Given the description of an element on the screen output the (x, y) to click on. 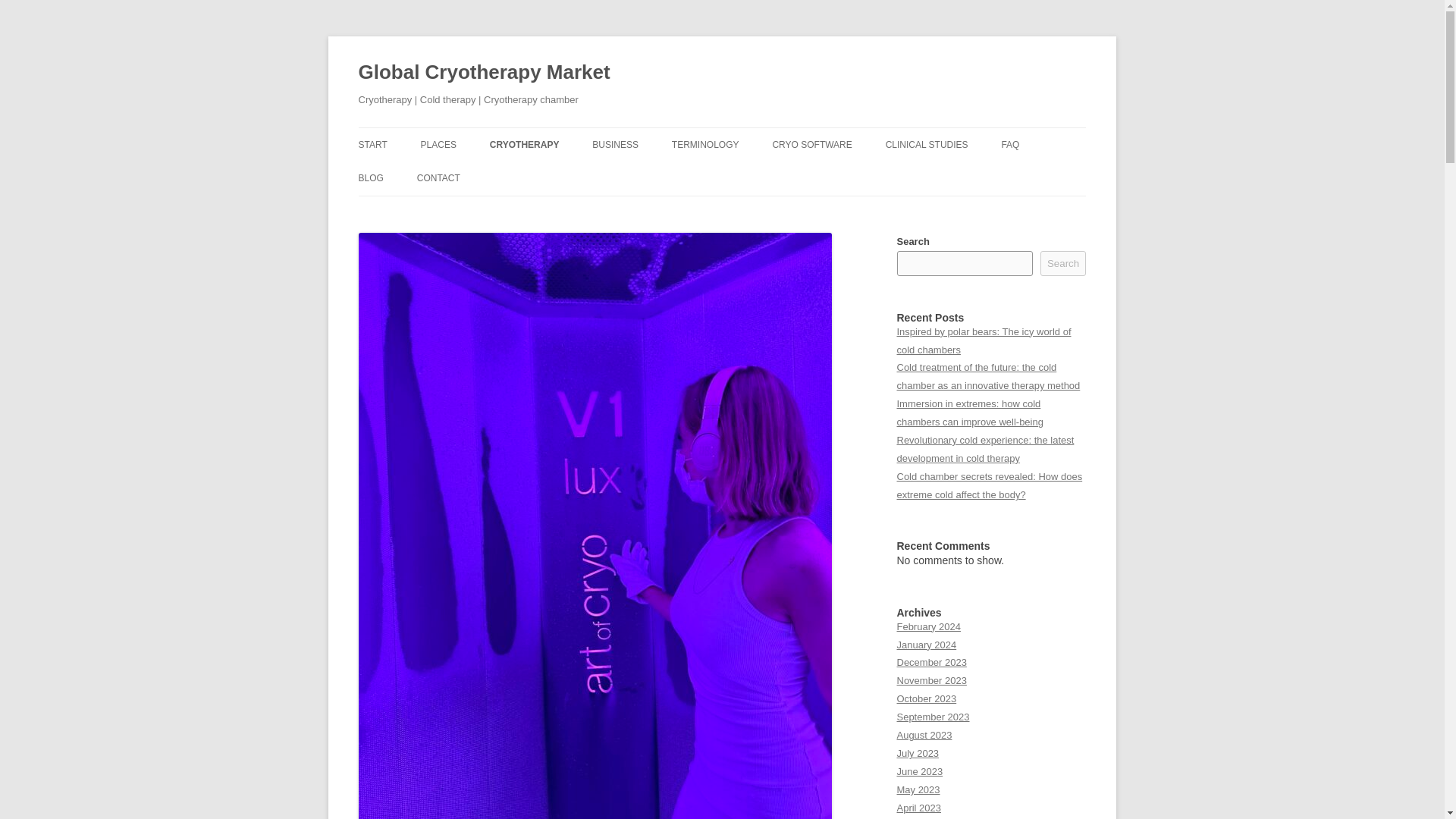
COLD CHAMBER AFRICA (496, 176)
Global Cryotherapy Market (484, 72)
PLACES (438, 144)
